Given the description of an element on the screen output the (x, y) to click on. 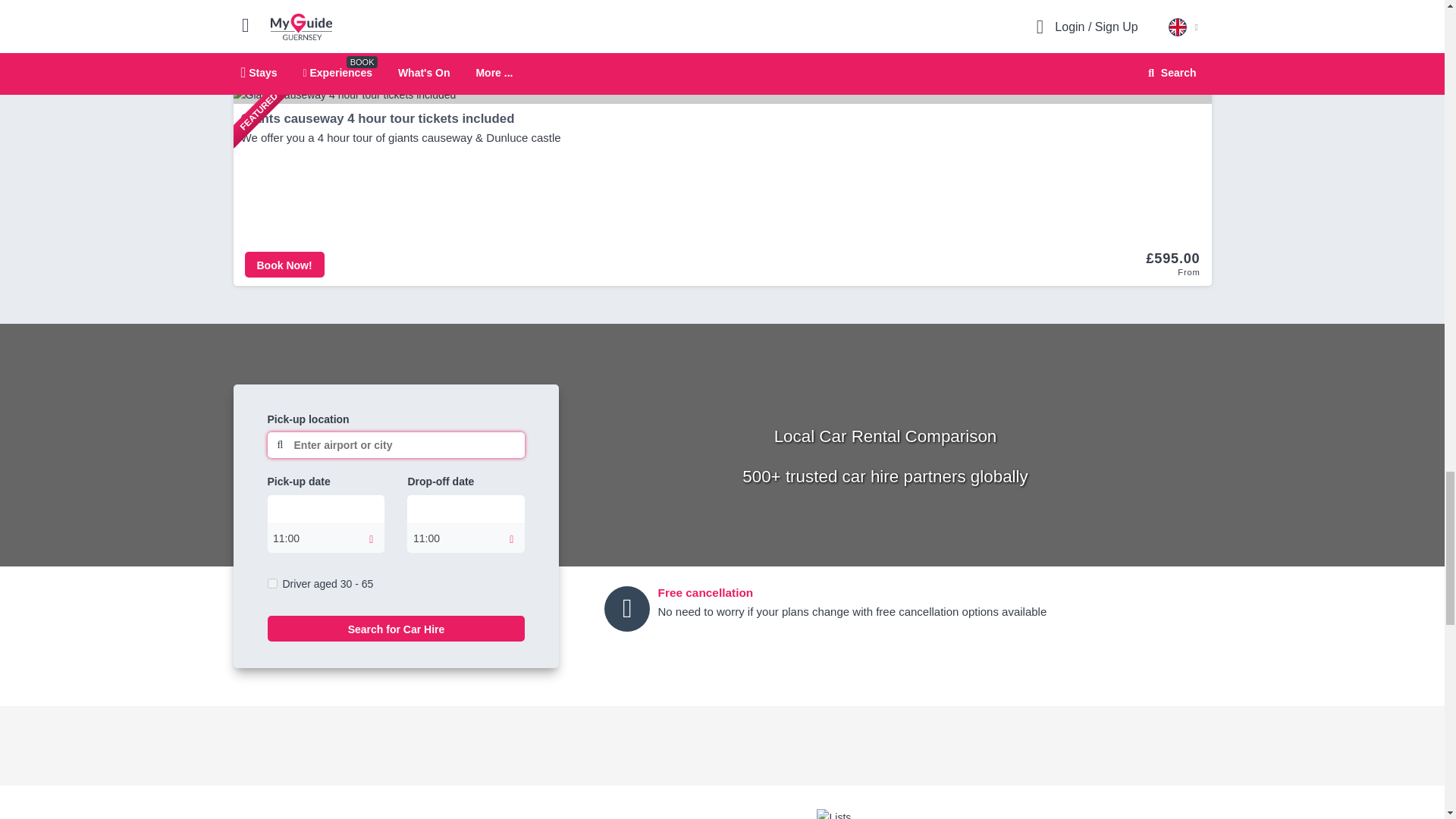
on (271, 583)
